Given the description of an element on the screen output the (x, y) to click on. 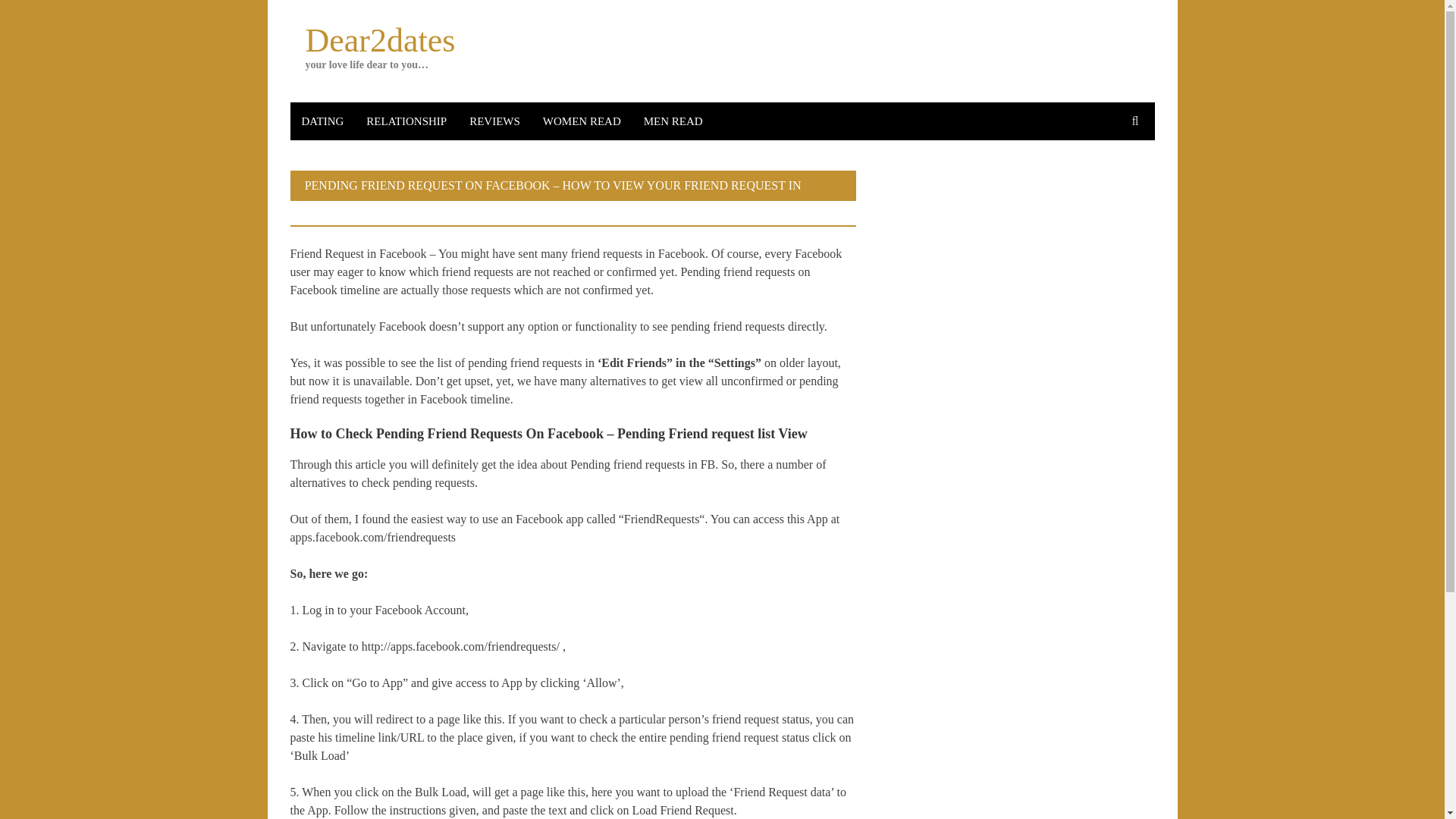
REVIEWS (494, 121)
DATING (322, 121)
MEN READ (672, 121)
Dear2dates (379, 40)
RELATIONSHIP (406, 121)
WOMEN READ (581, 121)
